Given the description of an element on the screen output the (x, y) to click on. 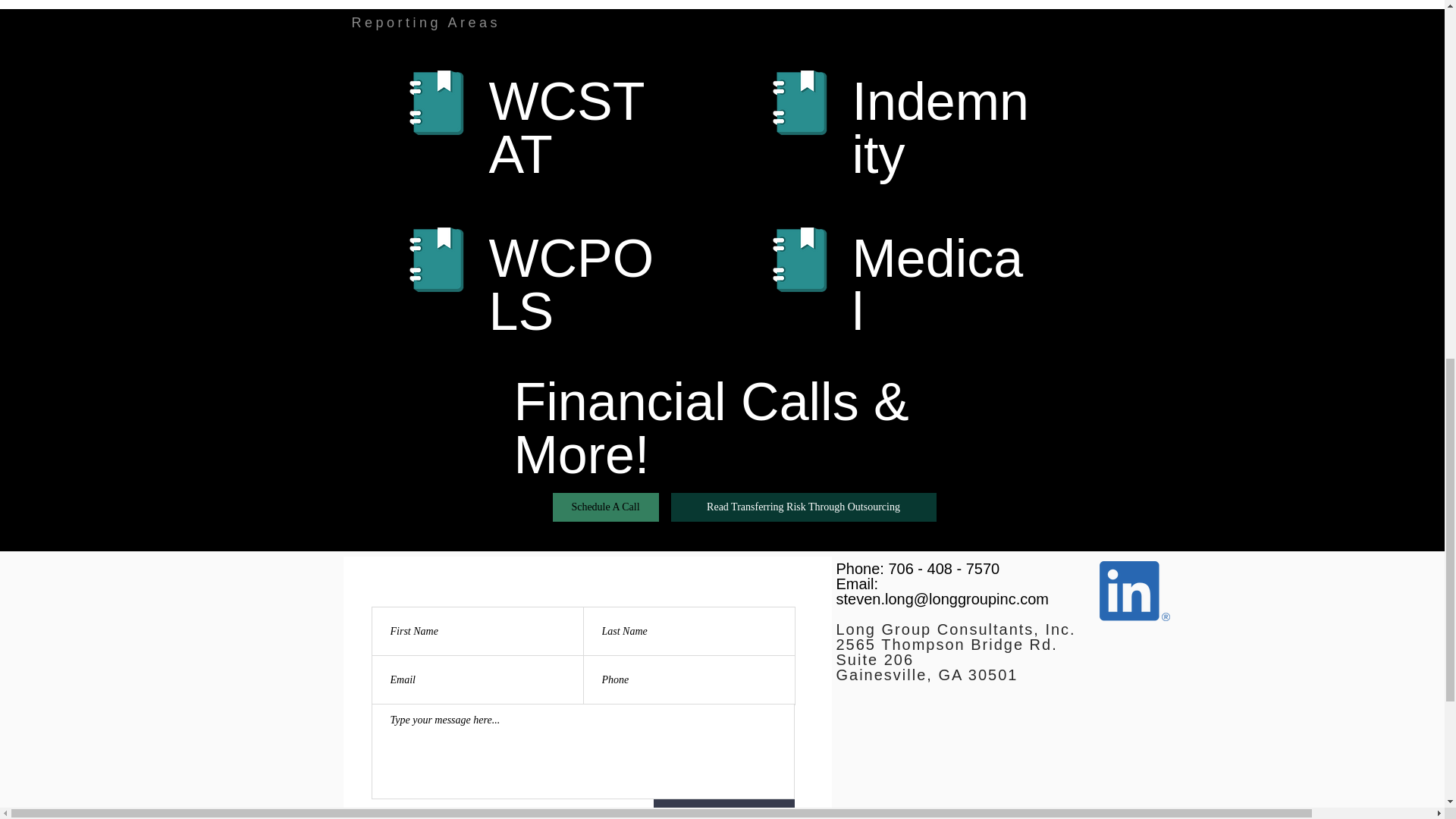
Submit (723, 809)
Schedule A Call (605, 507)
Read Transferring Risk Through Outsourcing (803, 507)
